Given the description of an element on the screen output the (x, y) to click on. 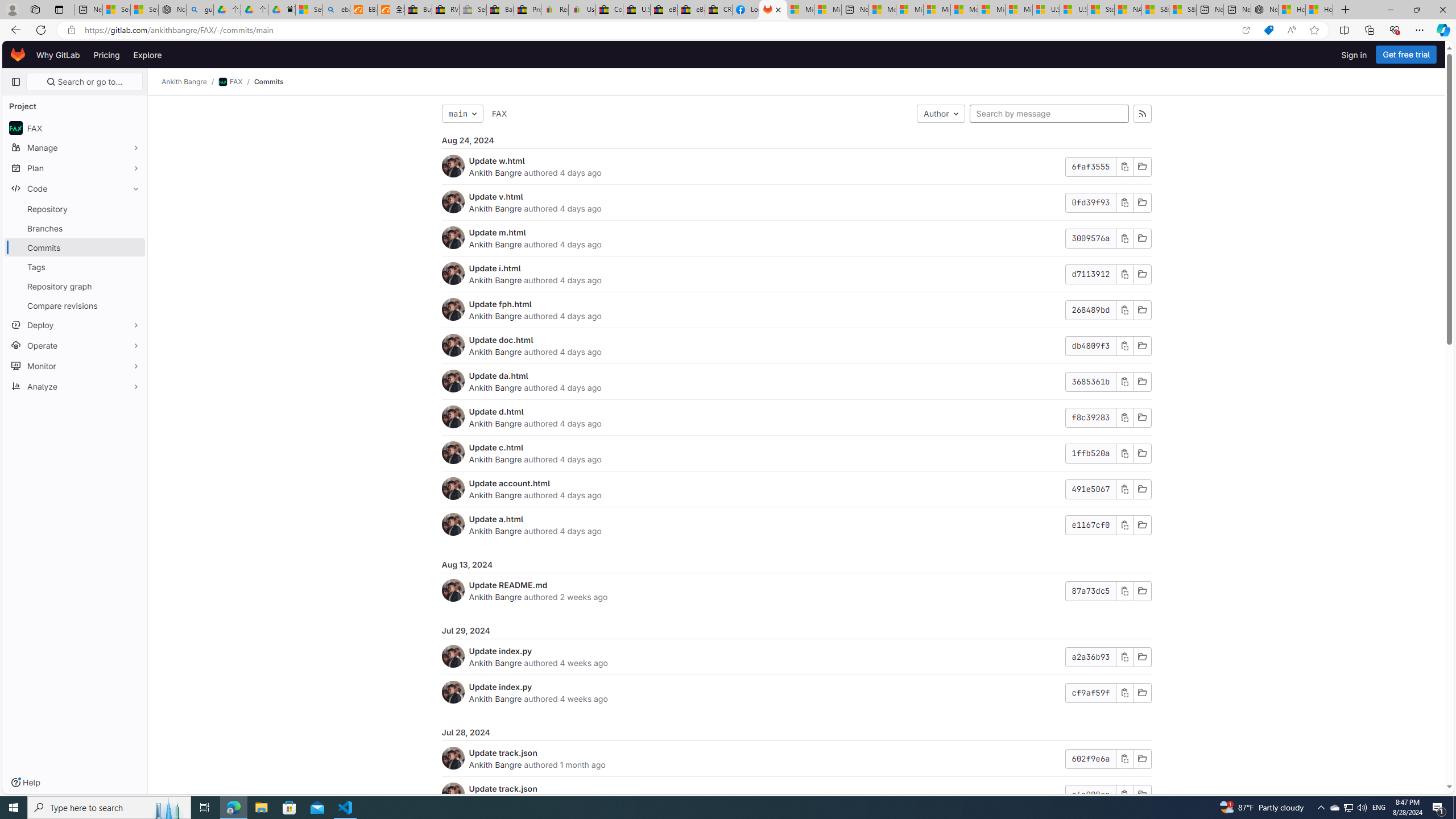
Update account.htmlAnkith Bangre authored 4 days ago491e5067 (796, 488)
Update README.mdAnkith Bangre authored 2 weeks ago87a73dc5 (796, 590)
avatar (15, 128)
Microsoft account | Privacy (909, 9)
Deploy (74, 324)
Branches (74, 227)
Update a.html (496, 519)
Commits (268, 81)
Pricing (106, 54)
Ankith Bangre/ (189, 81)
avatar FAX (74, 127)
Update v.html (495, 196)
RV, Trailer & Camper Steps & Ladders for sale | eBay (445, 9)
